Given the description of an element on the screen output the (x, y) to click on. 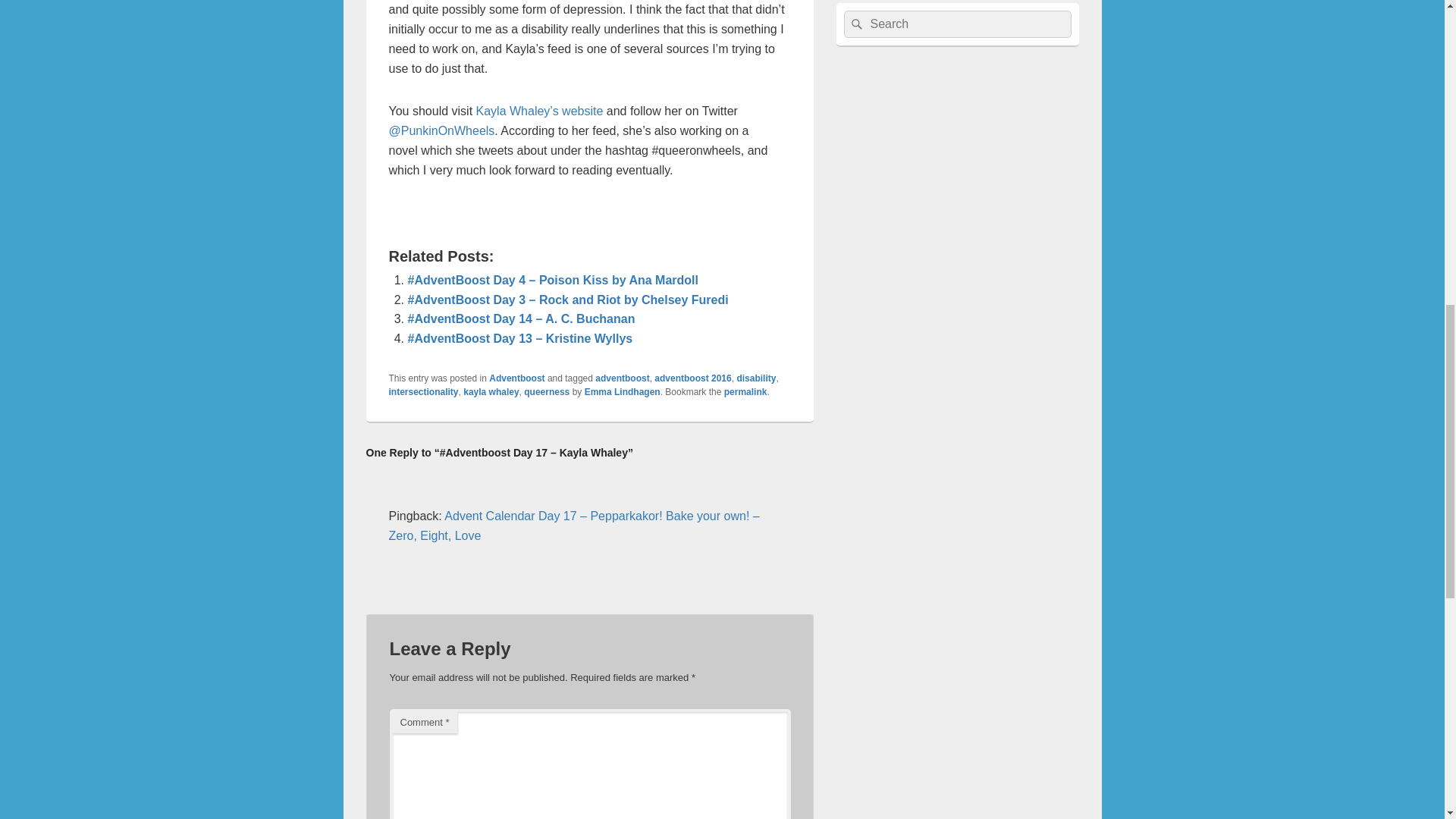
Search for: (956, 23)
permalink (745, 391)
adventboost (622, 378)
kayla whaley (490, 391)
disability (756, 378)
Emma Lindhagen (623, 391)
Adventboost (516, 378)
queerness (546, 391)
intersectionality (423, 391)
adventboost 2016 (691, 378)
